Given the description of an element on the screen output the (x, y) to click on. 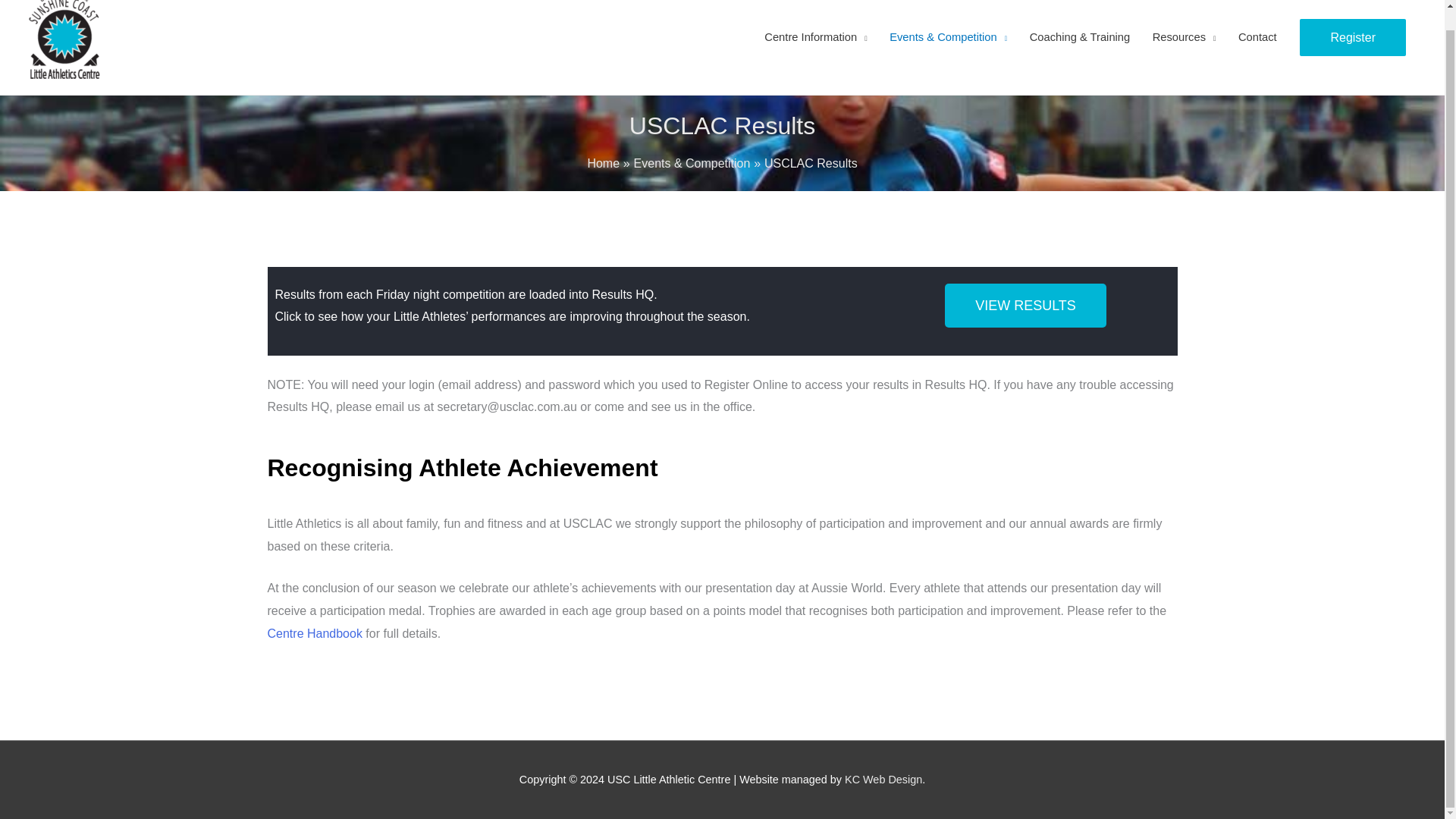
KC Web Design (882, 779)
Resources (1184, 47)
Home (603, 163)
Centre Handbook (313, 633)
Register (1353, 37)
Centre Information (816, 47)
VIEW RESULTS (1025, 305)
